Given the description of an element on the screen output the (x, y) to click on. 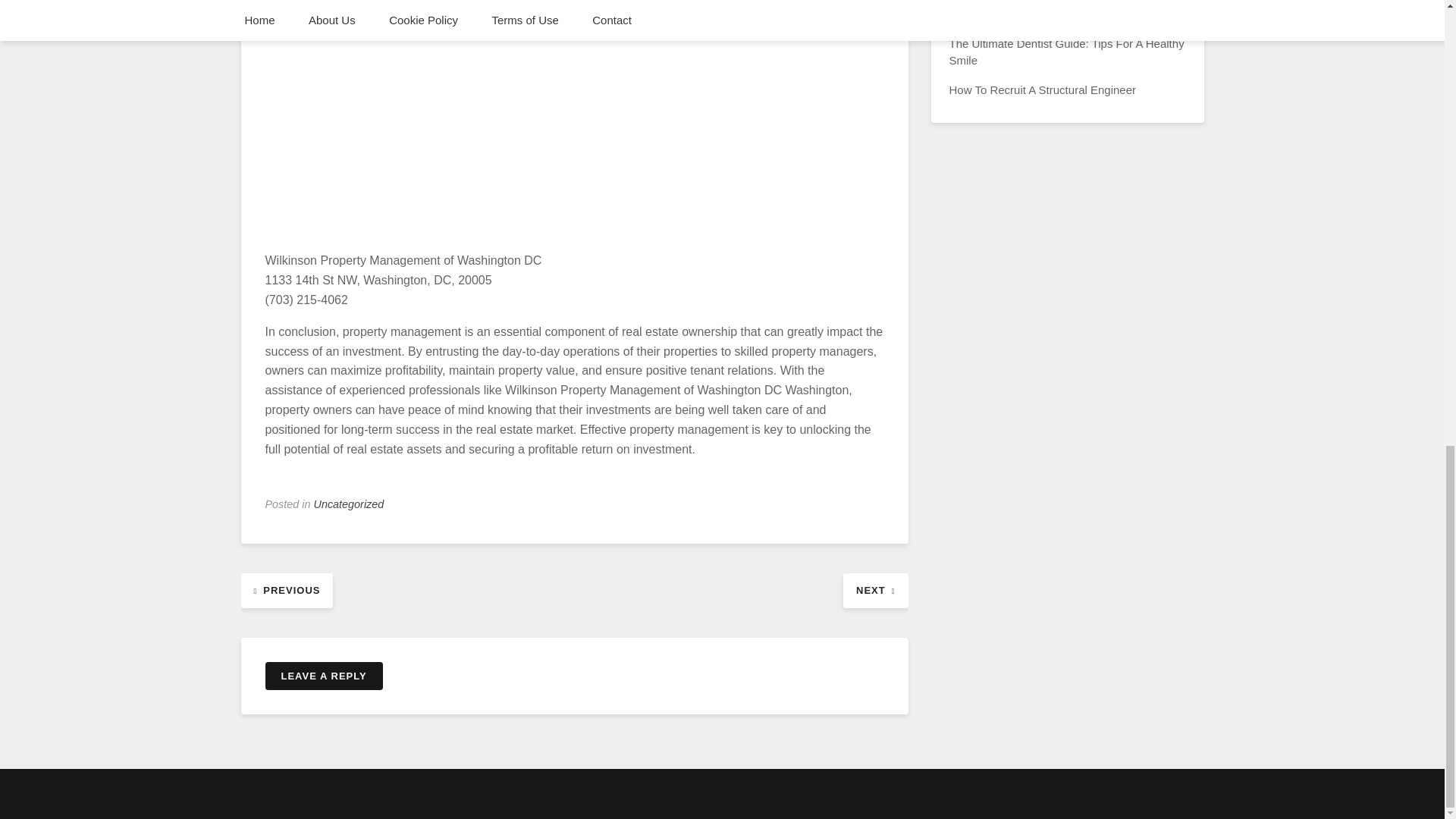
LEAVE A REPLY (323, 676)
Uncategorized (349, 503)
The Ultimate Dentist Guide: Tips For A Healthy Smile (1067, 51)
Easy Crypto Trading Tips For Beginners (1050, 13)
How To Recruit A Structural Engineer (1043, 89)
PREVIOUS (287, 589)
NEXT (875, 589)
